Given the description of an element on the screen output the (x, y) to click on. 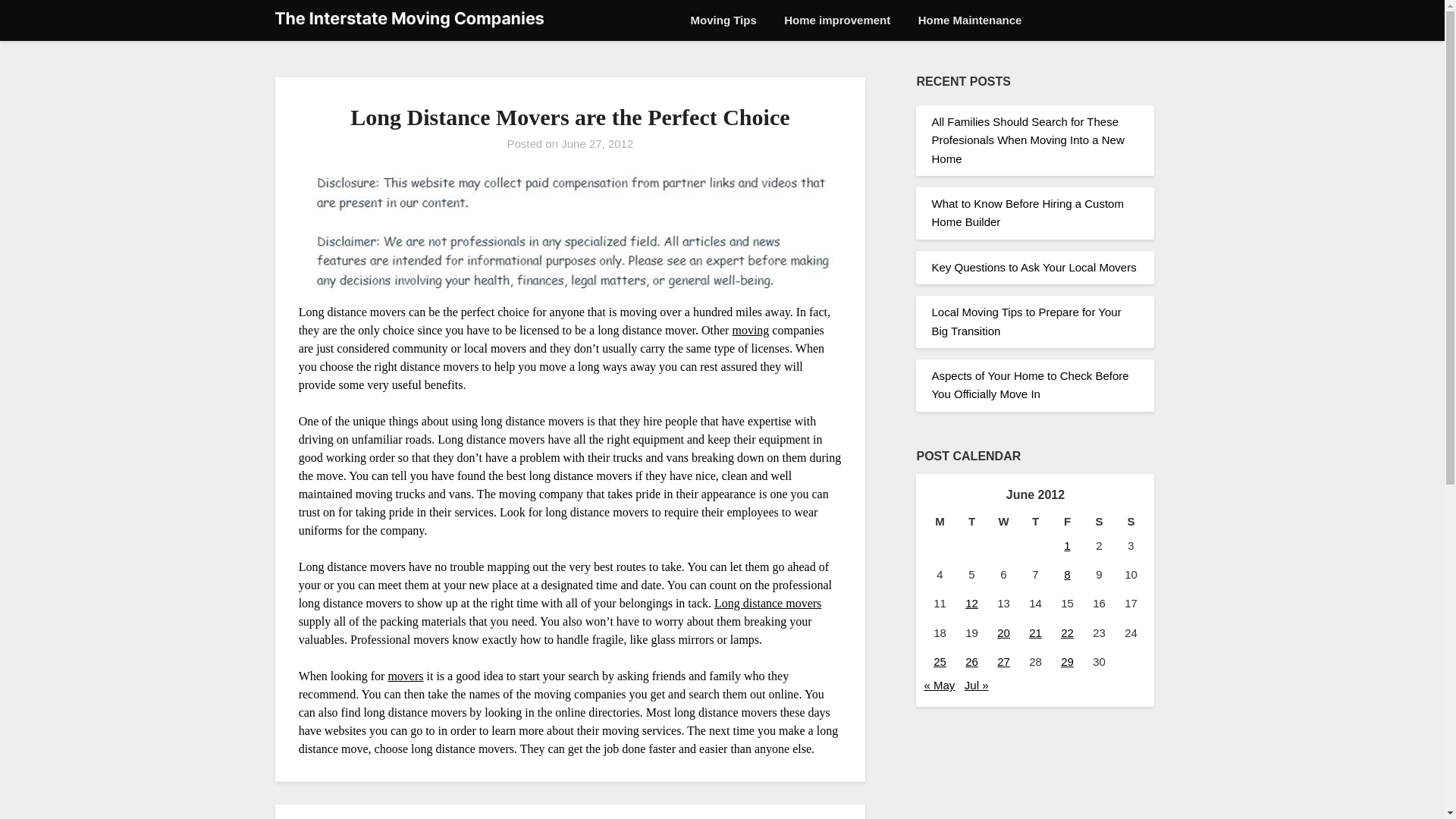
22 (1067, 632)
Long distance movers (767, 603)
27 (1003, 661)
29 (1067, 661)
Wednesday (1003, 521)
26 (971, 661)
Tuesday (971, 521)
moving (750, 329)
Friday (1067, 521)
Saturday (1099, 521)
